Given the description of an element on the screen output the (x, y) to click on. 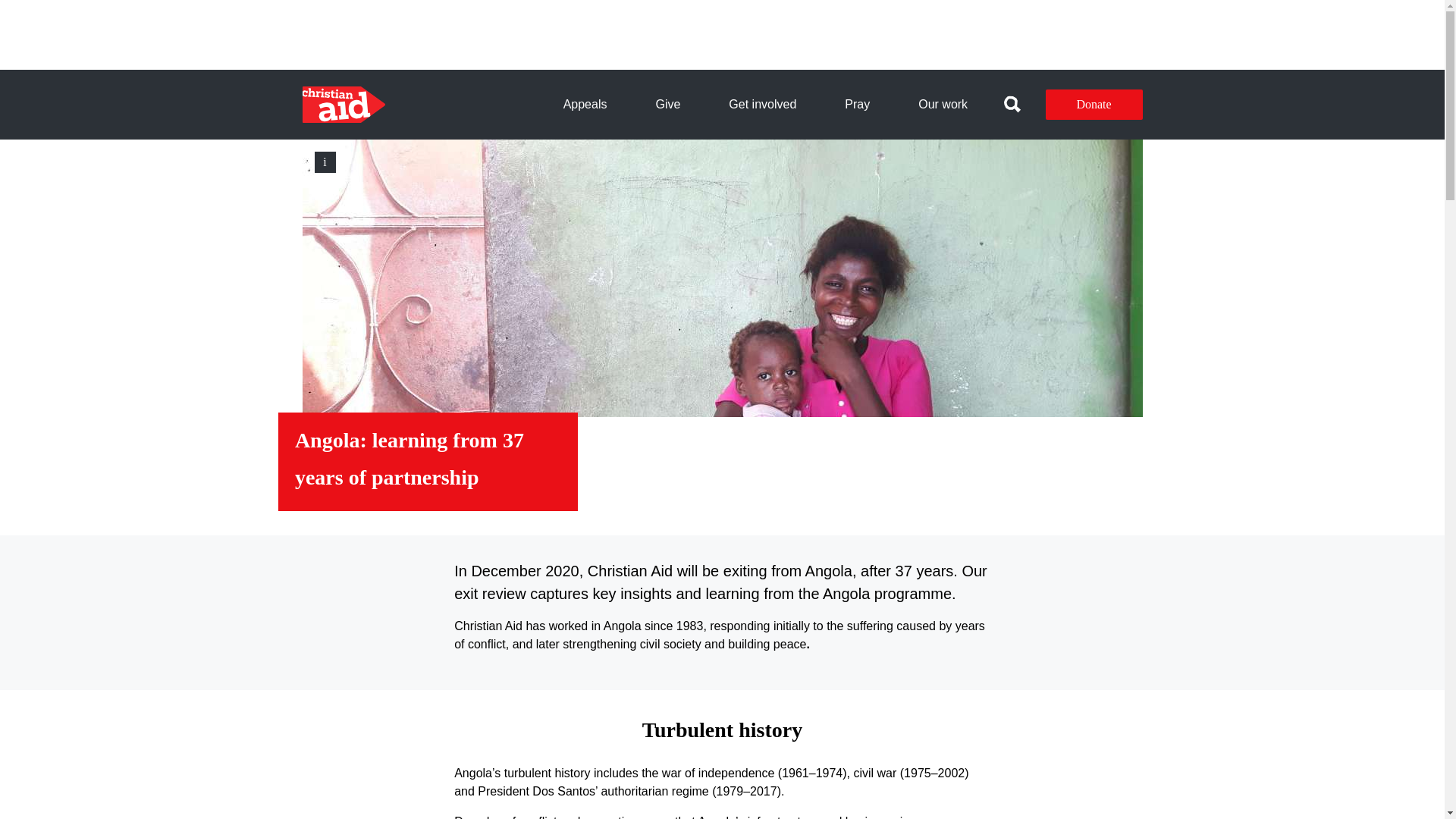
Pray (857, 104)
Give (667, 104)
Appeals (584, 104)
Donate (1093, 104)
